Given the description of an element on the screen output the (x, y) to click on. 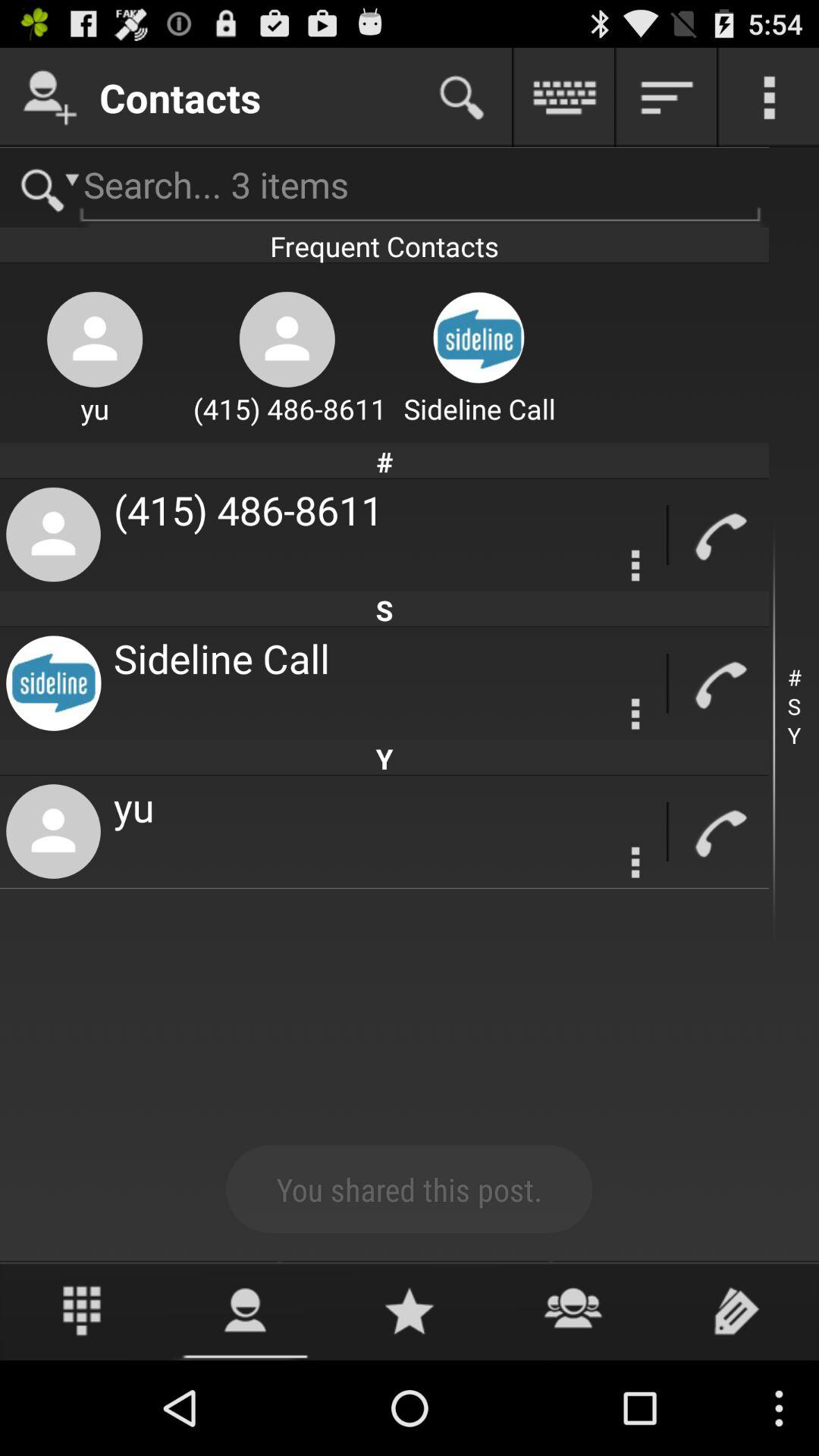
see profile (245, 1310)
